Given the description of an element on the screen output the (x, y) to click on. 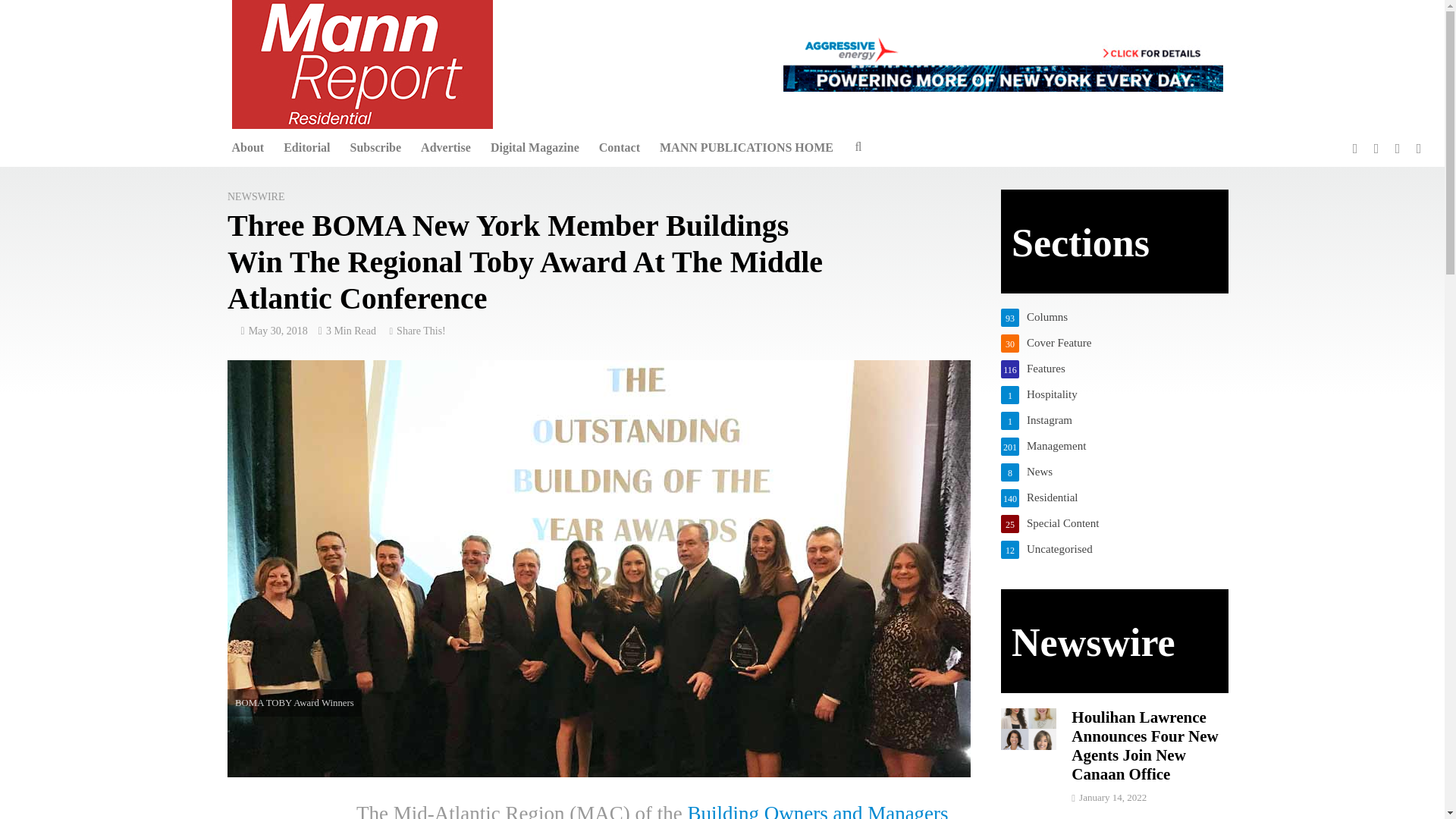
MANN PUBLICATIONS HOME (746, 147)
Subscribe (376, 147)
Advertise (445, 147)
About (247, 147)
Contact (619, 147)
Digital Magazine (534, 147)
Editorial (306, 147)
